Given the description of an element on the screen output the (x, y) to click on. 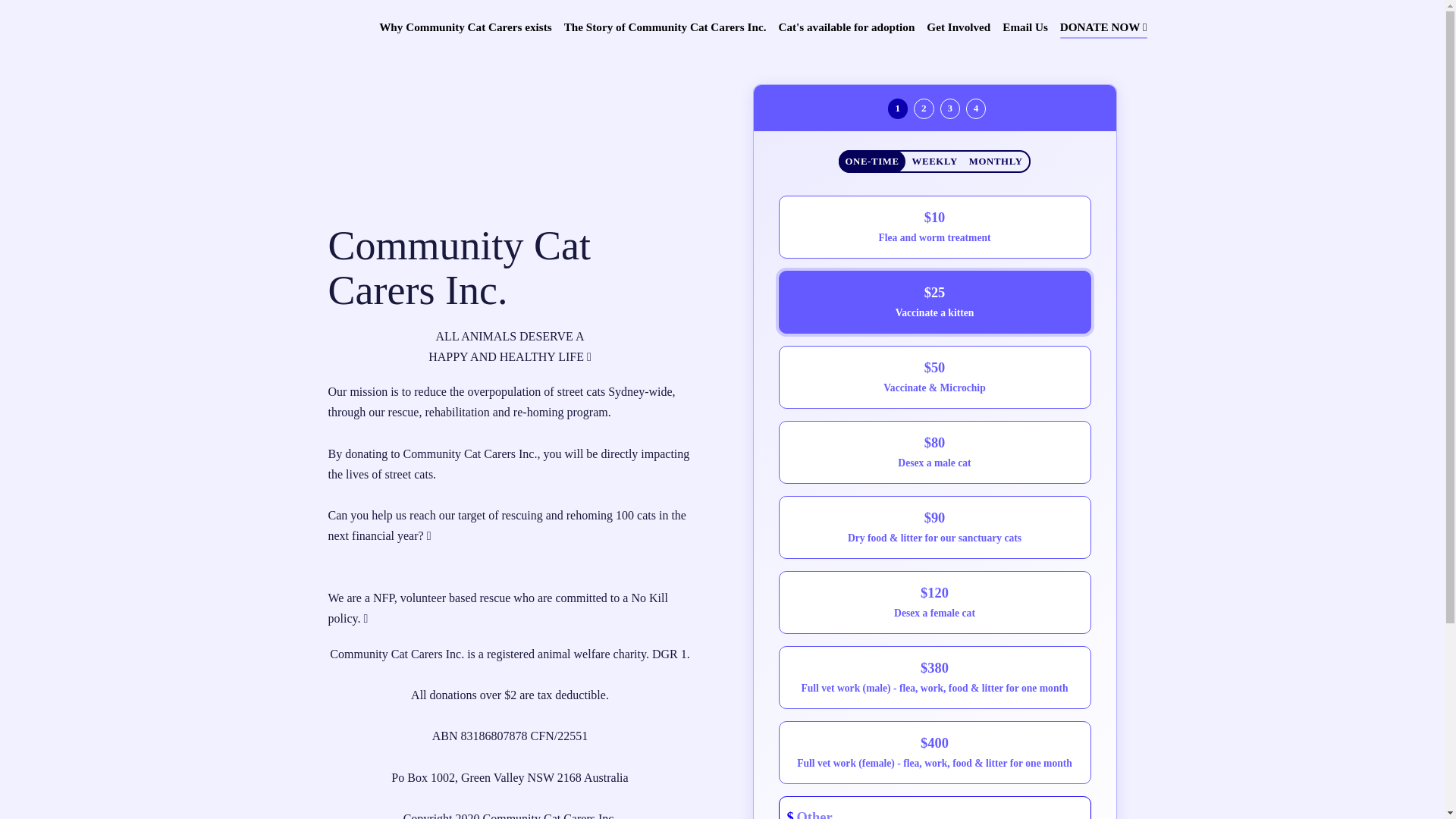
$80
Desex a male cat Element type: text (934, 451)
$120
Desex a female cat Element type: text (934, 602)
WEEKLY Element type: text (934, 161)
Get Involved Element type: text (958, 26)
$50
Vaccinate & Microchip Element type: text (934, 376)
Why Community Cat Carers exists Element type: text (465, 26)
ONE-TIME Element type: text (871, 161)
Email Us Element type: text (1025, 26)
The Story of Community Cat Carers Inc. Element type: text (665, 26)
Cat's available for adoption Element type: text (846, 26)
$25
Vaccinate a kitten Element type: text (934, 301)
$10
Flea and worm treatment Element type: text (934, 226)
MONTHLY Element type: text (995, 161)
$90
Dry food & litter for our sanctuary cats Element type: text (934, 526)
